Given the description of an element on the screen output the (x, y) to click on. 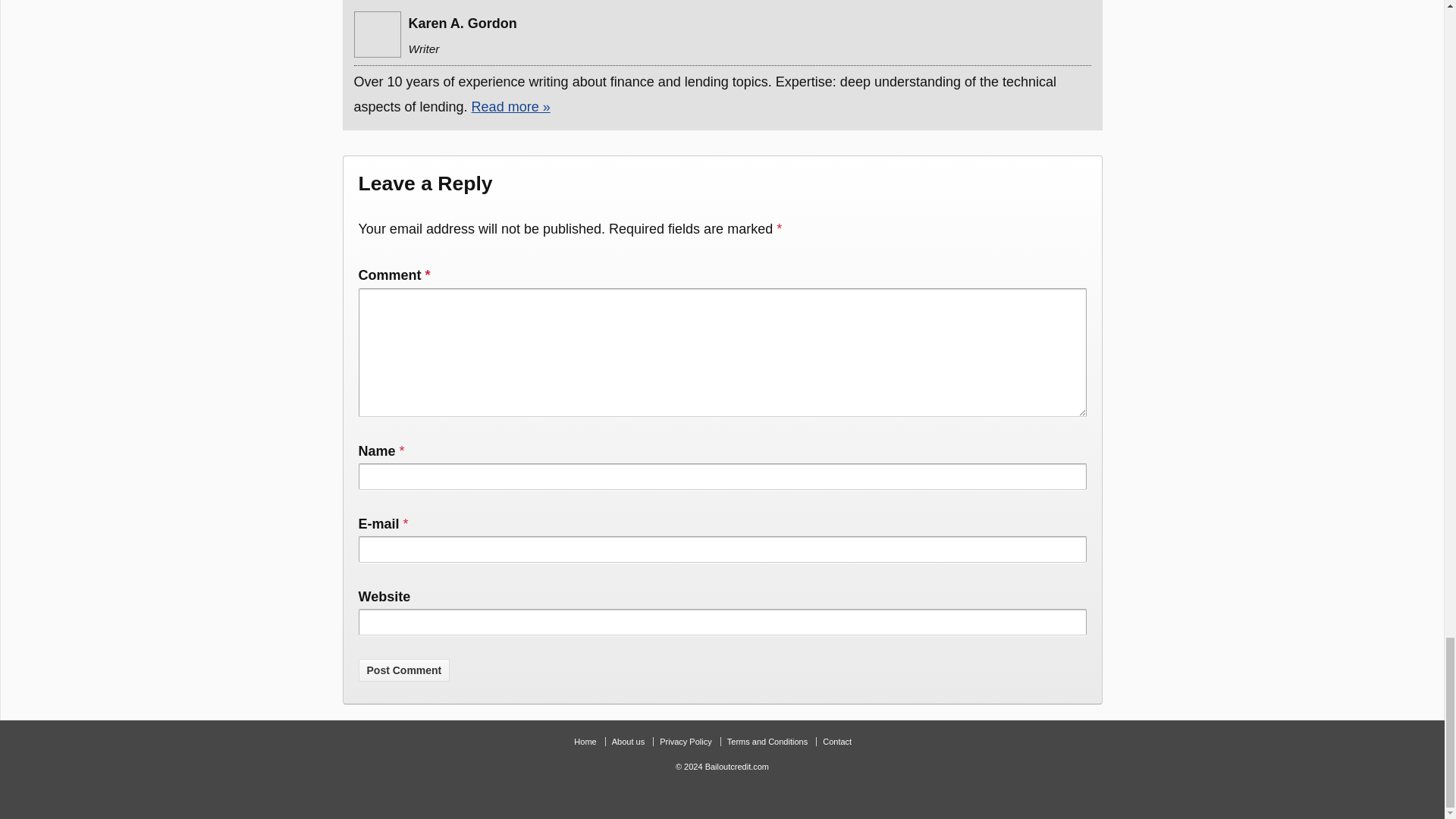
Karen A. Gordon (376, 34)
Bailoutcredit.com (735, 766)
Post Comment (403, 670)
